Given the description of an element on the screen output the (x, y) to click on. 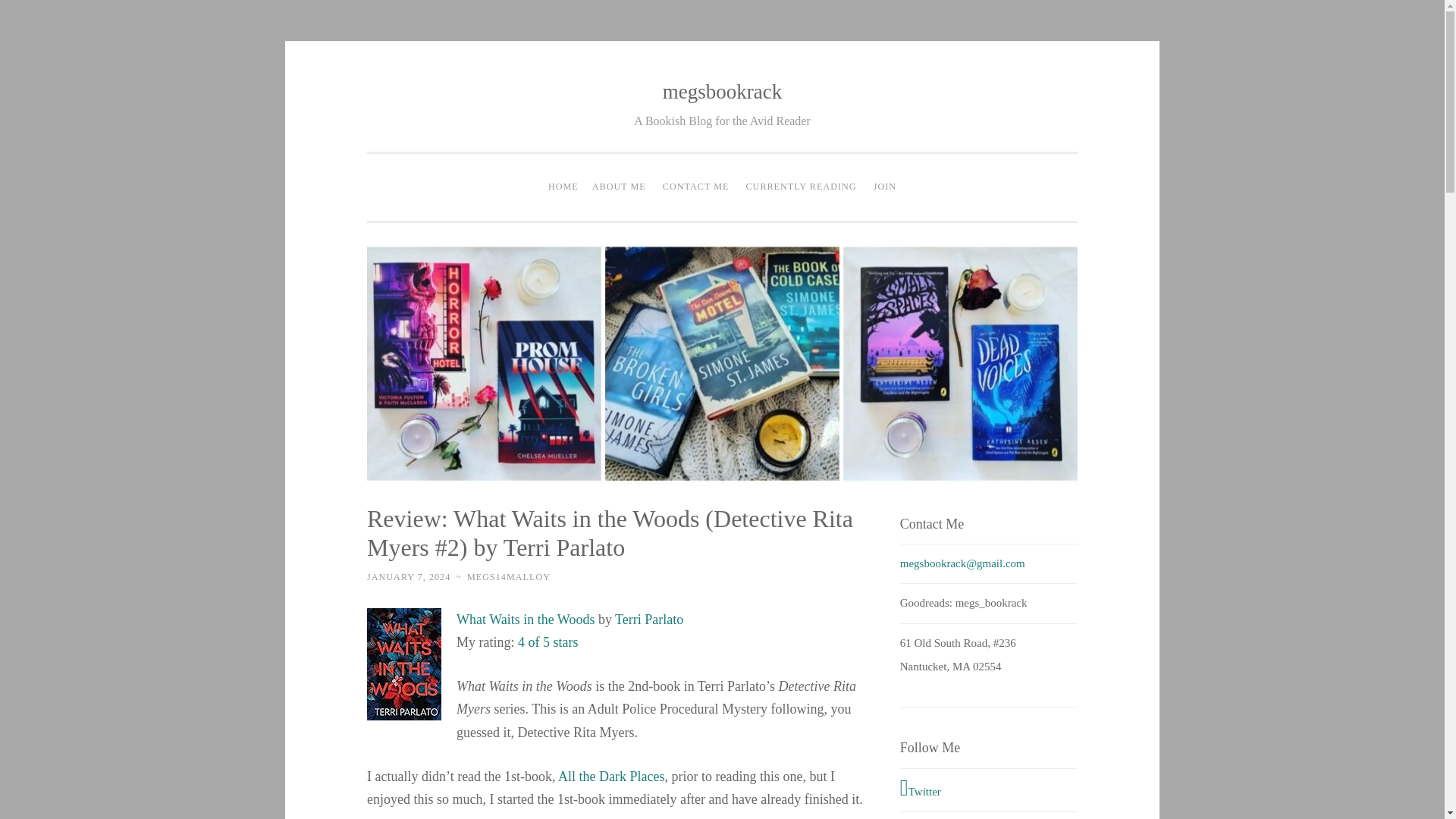
JANUARY 7, 2024 (407, 576)
All the Dark Places by Terri Parlato (610, 776)
Twitter (988, 789)
HOME (563, 186)
Terri Parlato (648, 619)
ABOUT ME (618, 186)
CURRENTLY READING (800, 186)
MEGS14MALLOY (508, 576)
CONTACT ME (696, 186)
JOIN (884, 186)
